Given the description of an element on the screen output the (x, y) to click on. 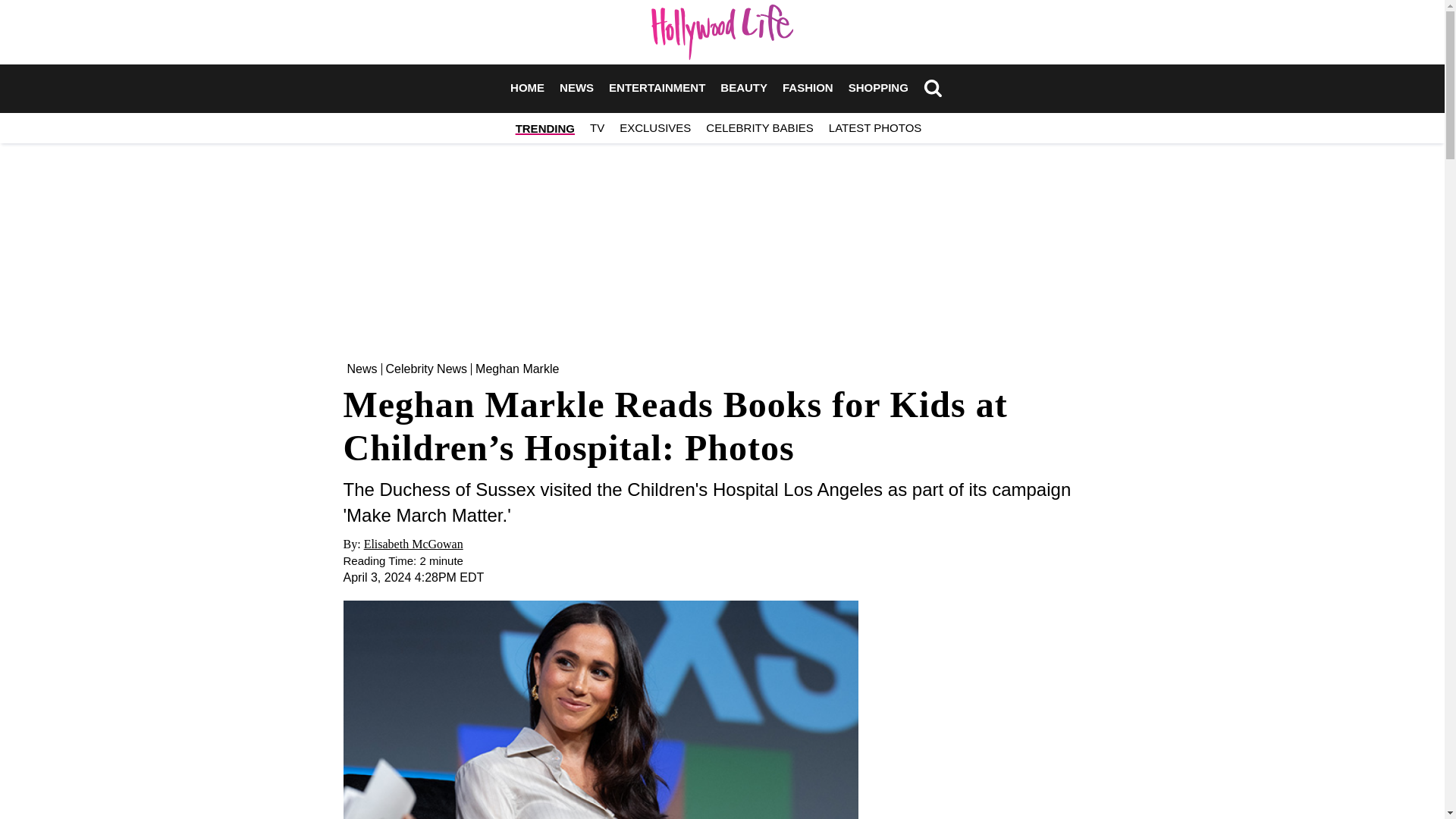
SHOPPING (878, 88)
BEAUTY (743, 88)
ENTERTAINMENT (656, 88)
Posts by Elisabeth McGowan (413, 543)
FASHION (807, 88)
Hollywood Life (722, 32)
